Given the description of an element on the screen output the (x, y) to click on. 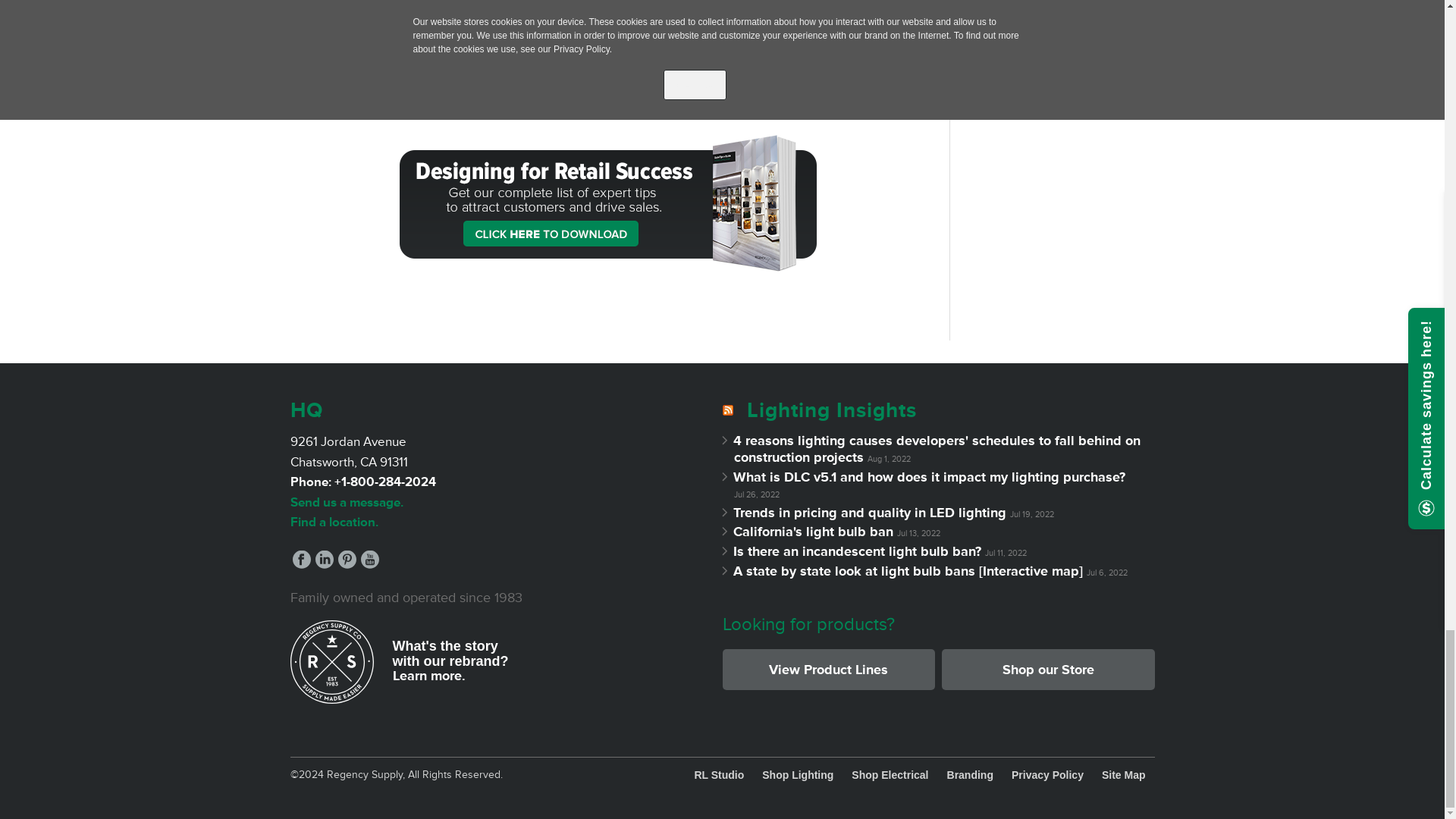
Connect with us on linkedin (324, 560)
Site Map (1123, 775)
Connect with us on facebook (301, 560)
Connect with us on youtube (369, 560)
Connect with us on pinterest (346, 560)
